Given the description of an element on the screen output the (x, y) to click on. 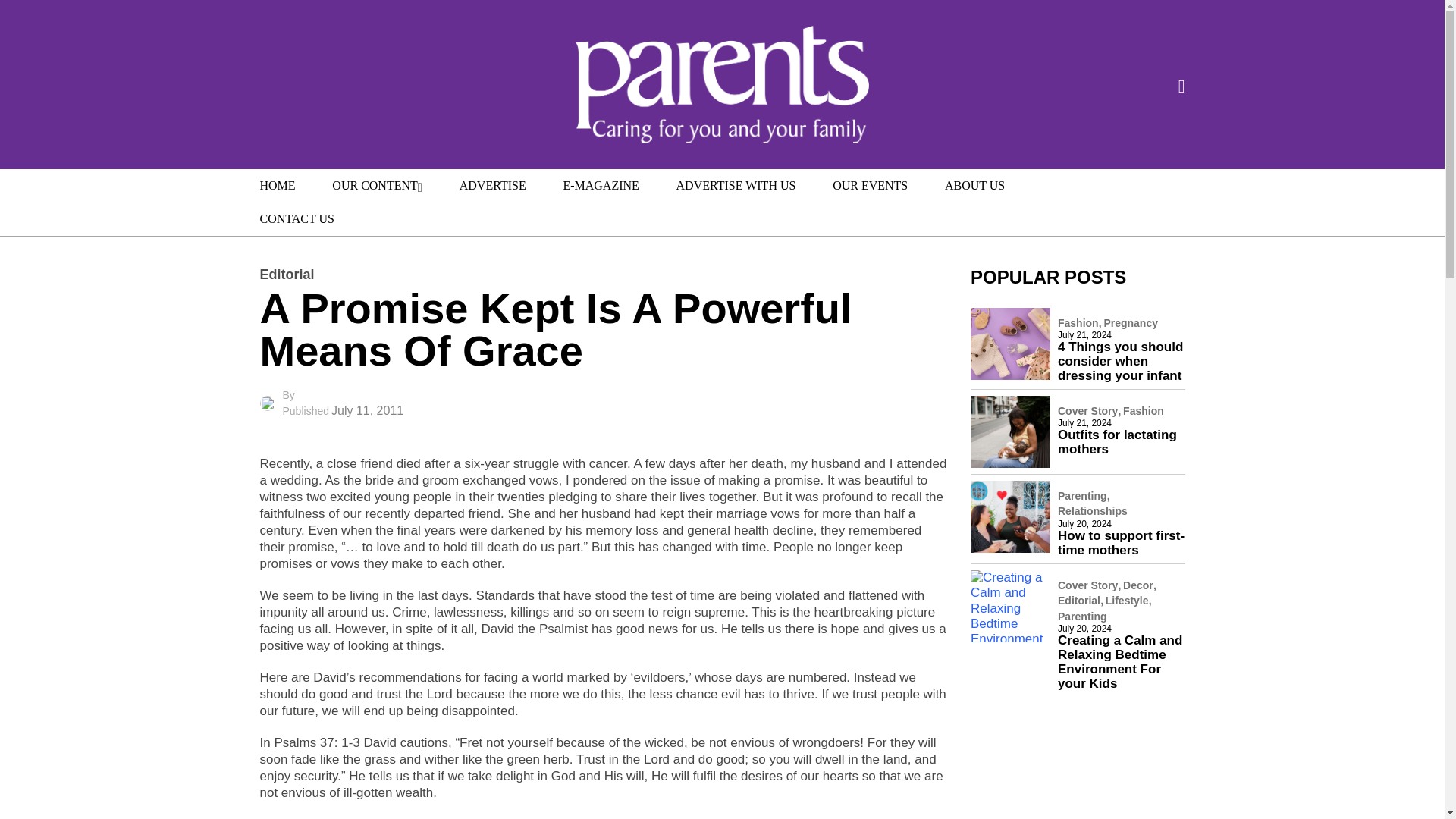
ADVERTISE (492, 185)
OUR CONTENT (377, 185)
HOME (277, 185)
